Given the description of an element on the screen output the (x, y) to click on. 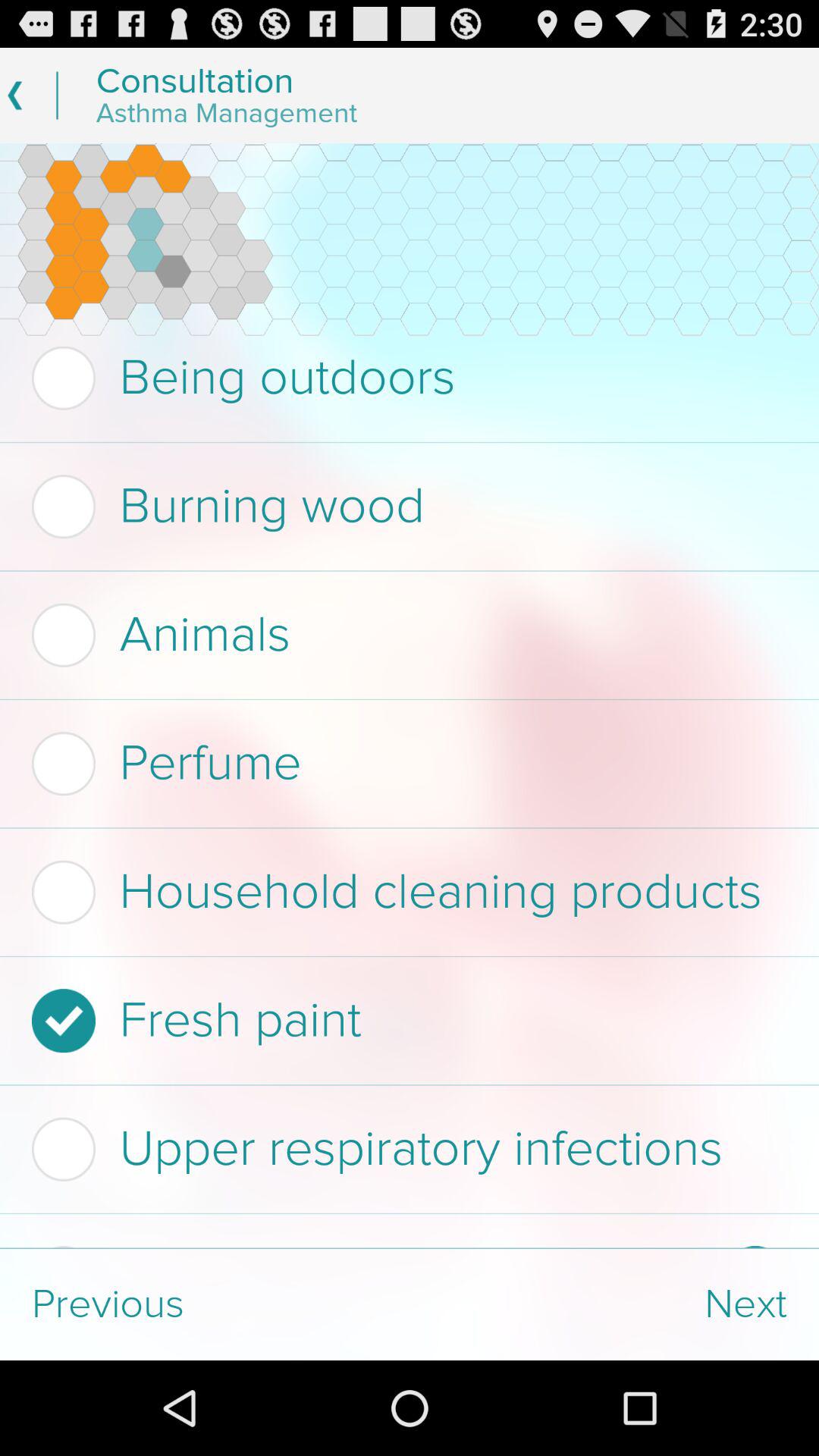
tap perfume item (405, 763)
